Given the description of an element on the screen output the (x, y) to click on. 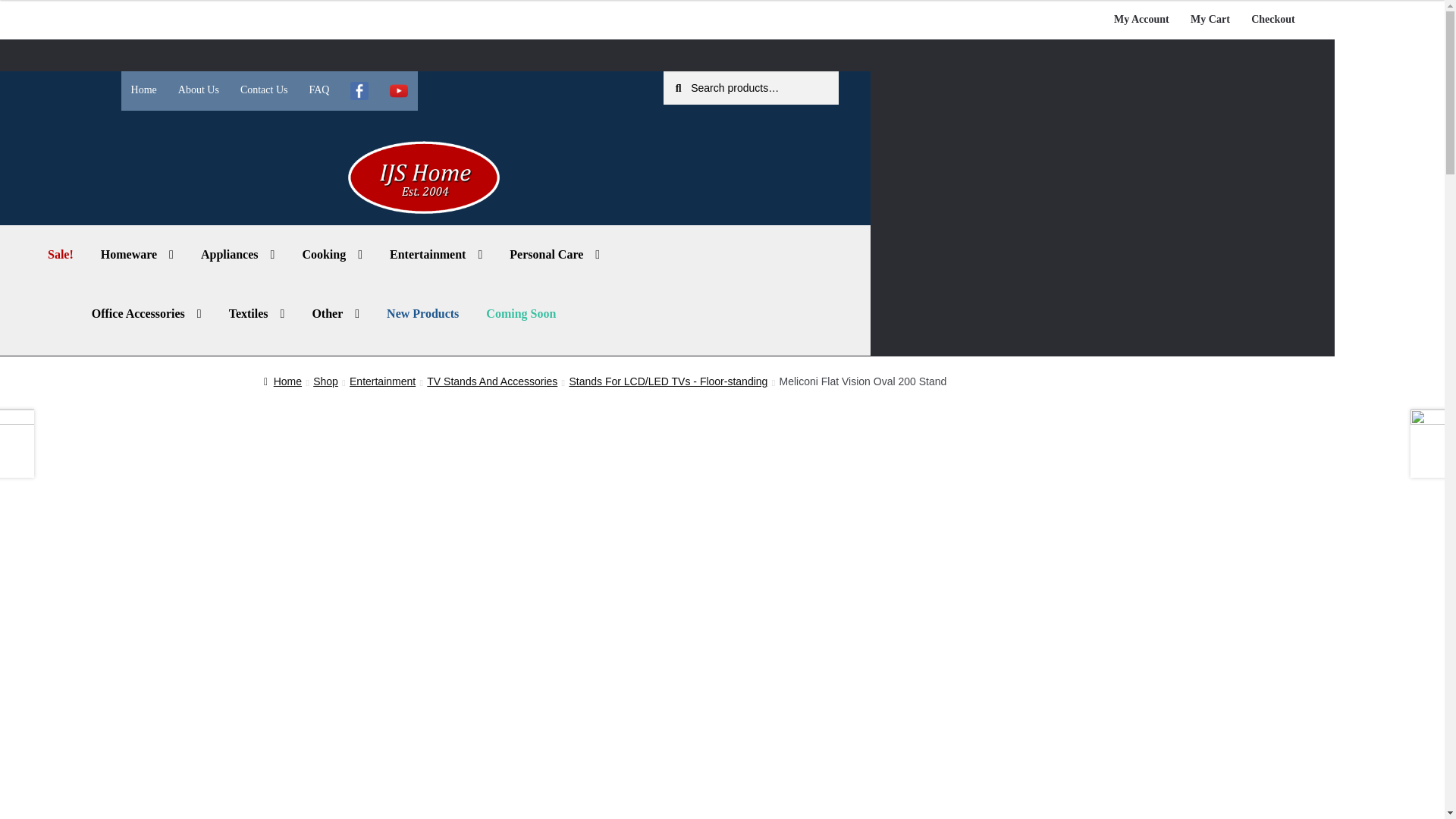
My Account (1141, 19)
FAQ (318, 90)
Homeware (137, 254)
About Us (198, 90)
My Cart (1210, 19)
Contact Us (264, 90)
Checkout (1272, 19)
Home (142, 90)
